Given the description of an element on the screen output the (x, y) to click on. 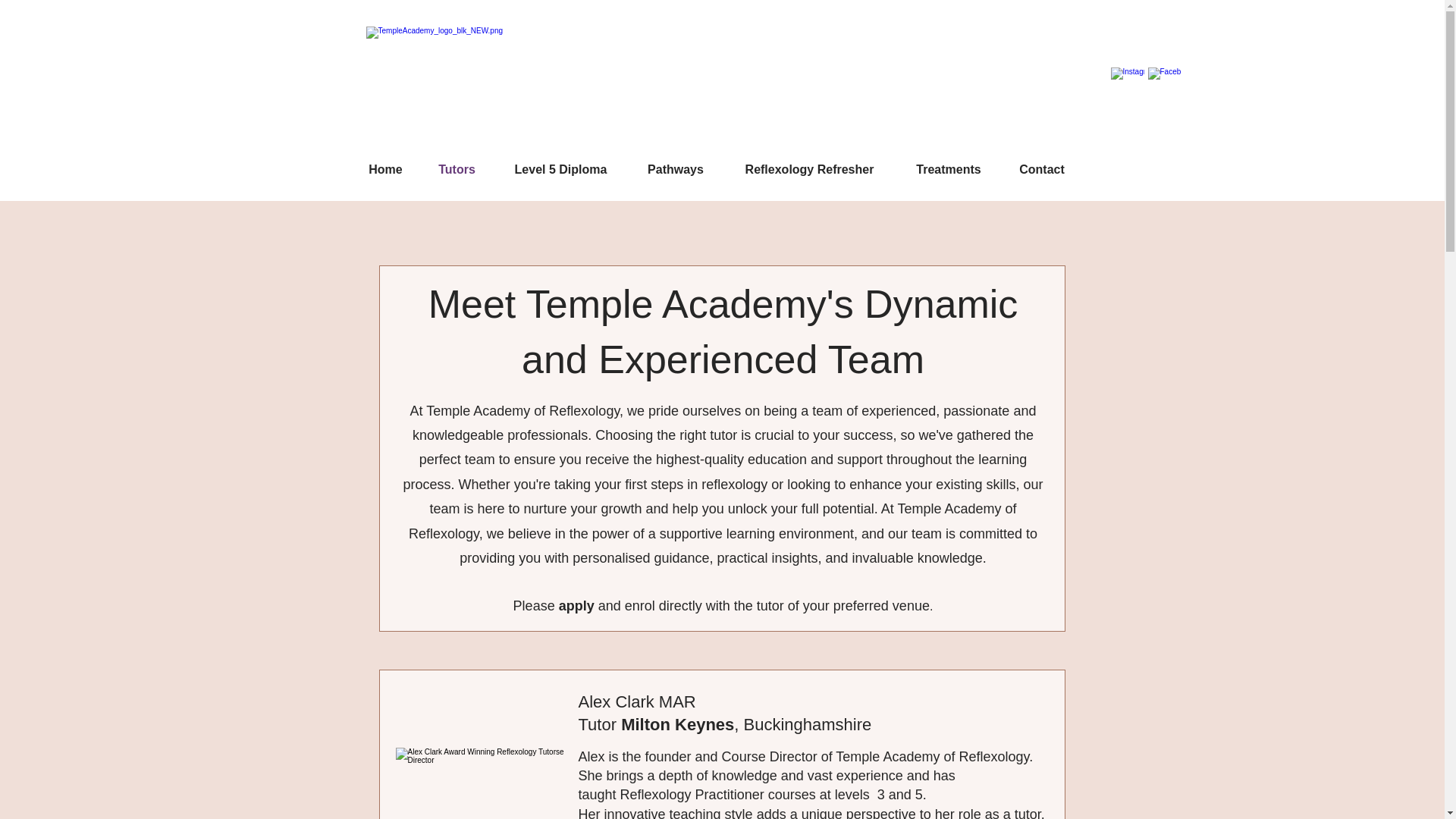
apply (578, 605)
Contact (1041, 169)
Milton Keynes (677, 723)
Temple Academy of Reflexology delivering excellence (494, 87)
Pathways (674, 169)
Home (385, 169)
Tutors (456, 169)
Treatments (948, 169)
Reflexology Refresher (809, 169)
Level 5 Diploma (560, 169)
